Given the description of an element on the screen output the (x, y) to click on. 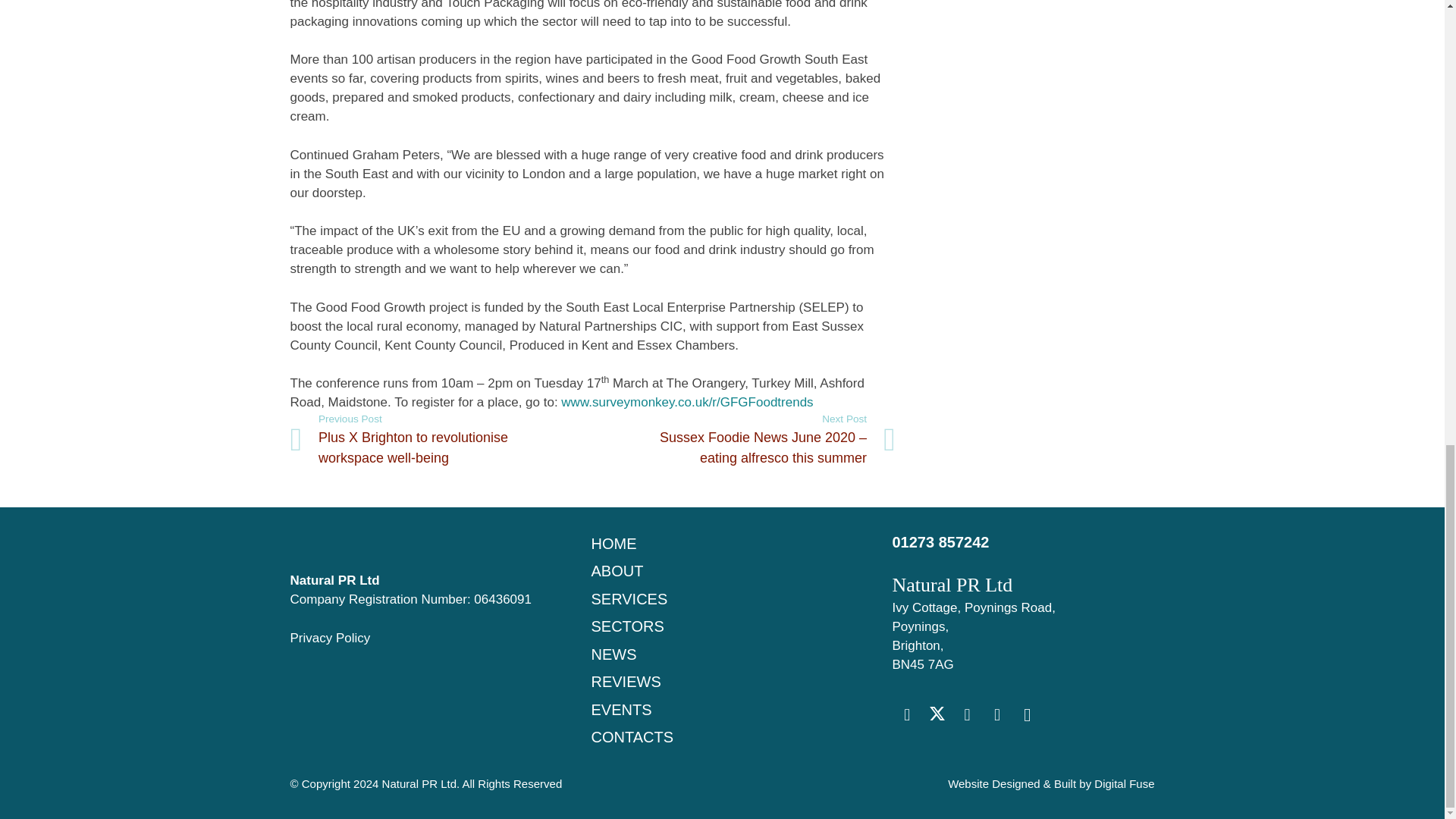
SERVICES (628, 598)
CONTACTS (631, 736)
Privacy Policy (329, 637)
Plus X Brighton to revolutionise workspace well-being (440, 439)
REVIEWS (626, 681)
SECTORS (627, 626)
NEWS (613, 654)
HOME (613, 543)
ABOUT (617, 570)
EVENTS (620, 709)
